Given the description of an element on the screen output the (x, y) to click on. 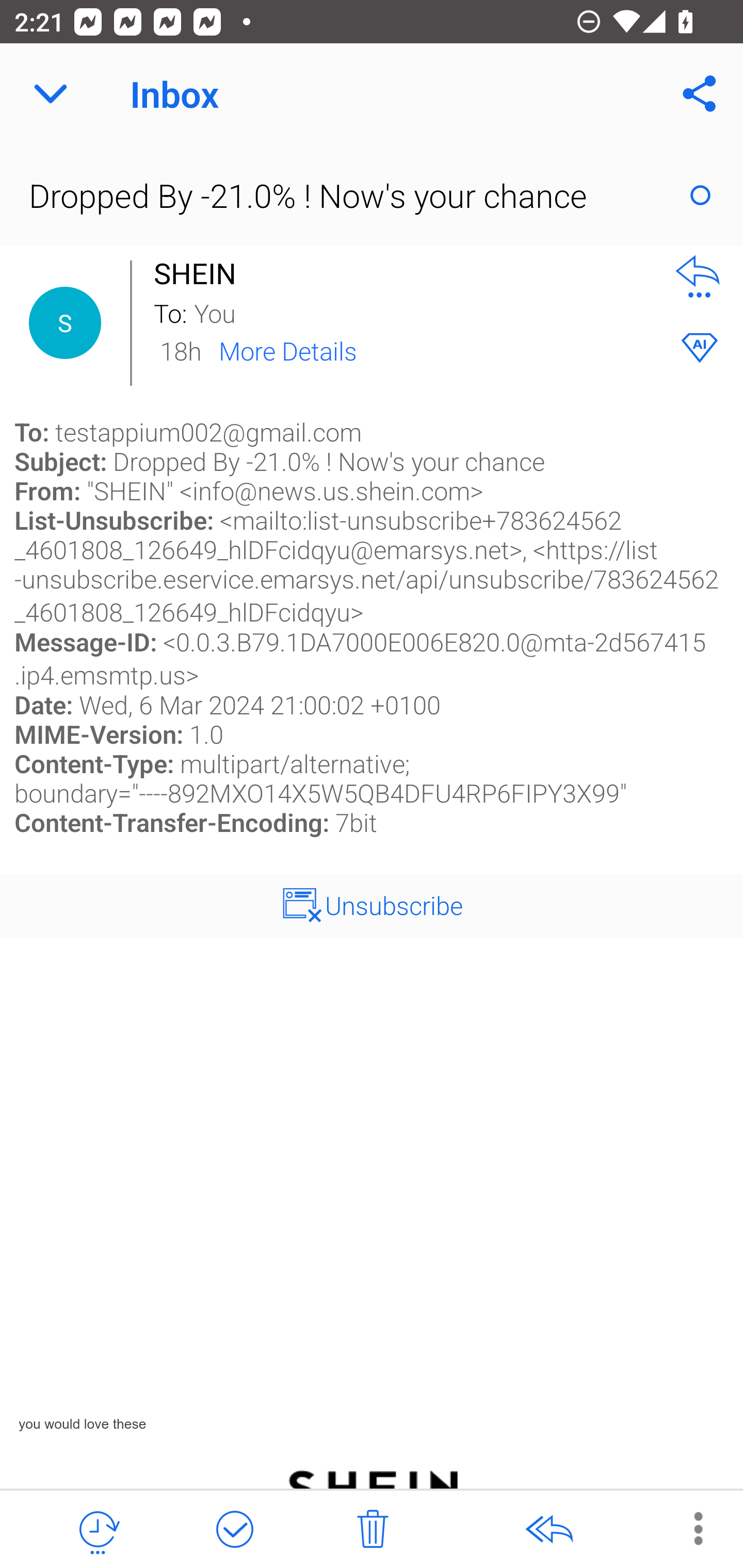
Navigate up (50, 93)
Share (699, 93)
Mark as Read (699, 194)
SHEIN (200, 273)
Contact Details (64, 322)
More Details (287, 349)
Unsubscribe (393, 904)
More Options (687, 1528)
Snooze (97, 1529)
Mark as Done (234, 1529)
Delete (372, 1529)
Reply All (548, 1529)
